Given the description of an element on the screen output the (x, y) to click on. 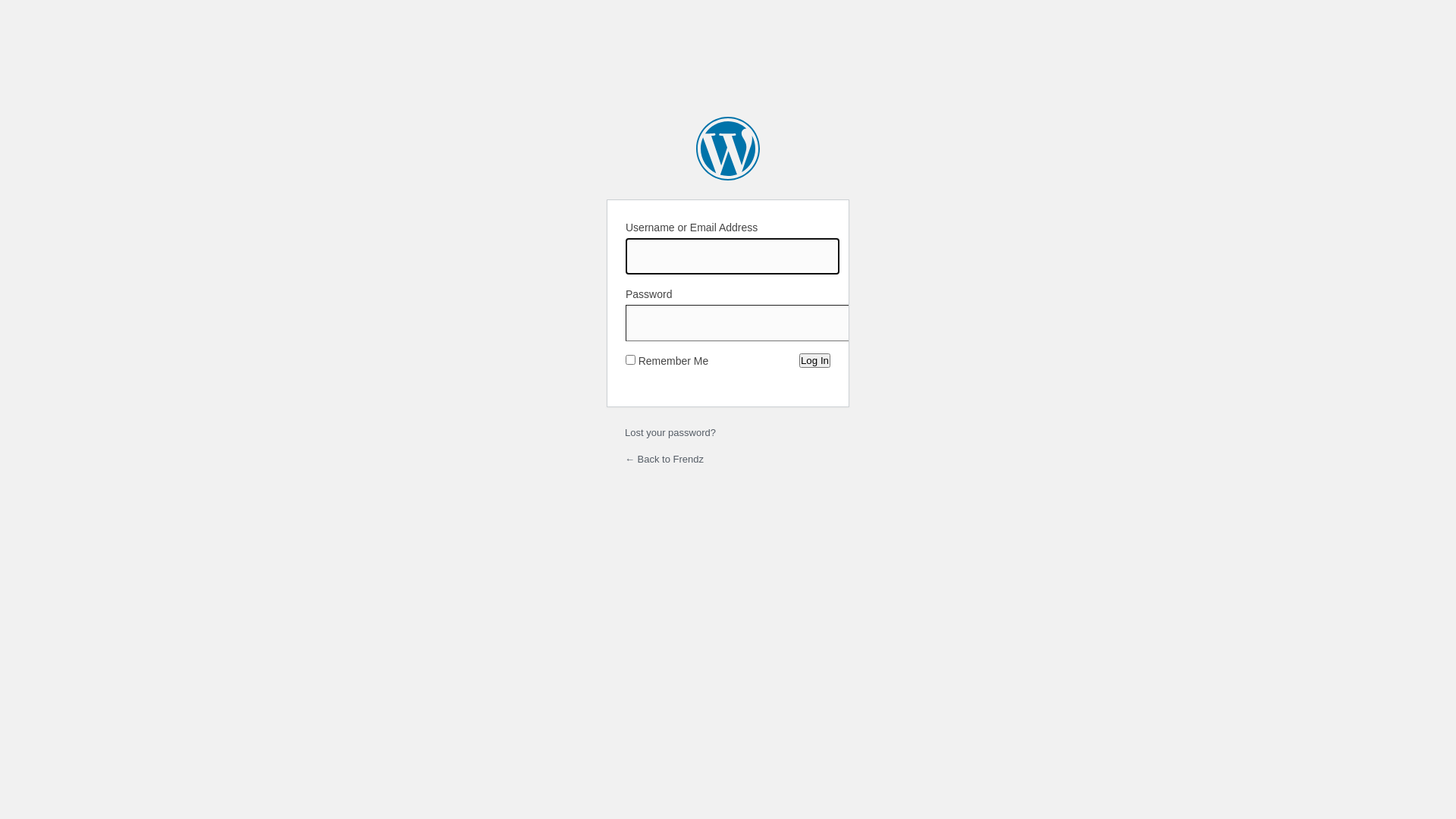
Lost your password? Element type: text (669, 432)
Log In Element type: text (814, 360)
Powered by WordPress Element type: text (727, 148)
